Given the description of an element on the screen output the (x, y) to click on. 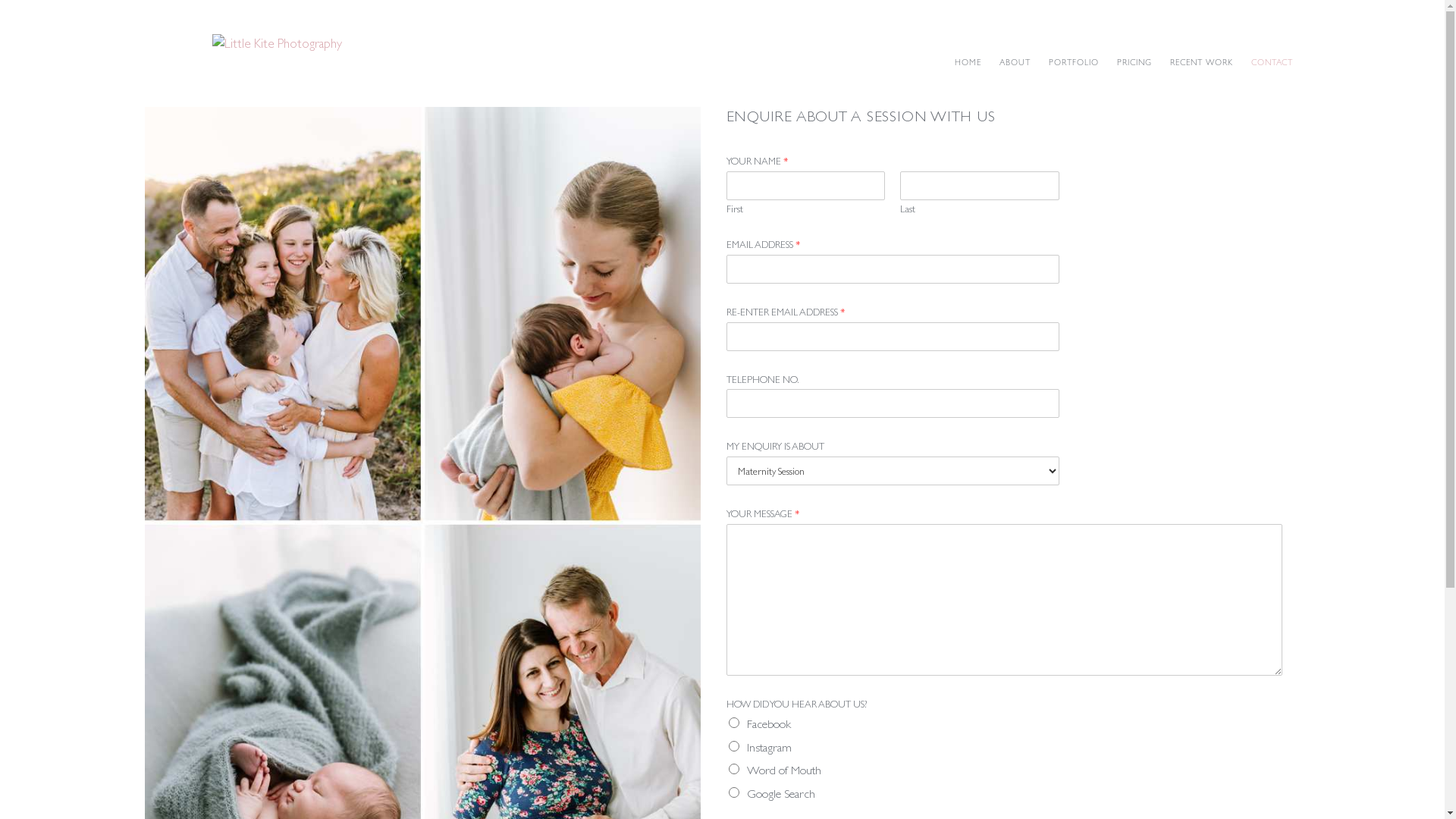
RECENT WORK Element type: text (1201, 63)
PORTFOLIO Element type: text (1073, 63)
ABOUT Element type: text (1014, 63)
CONTACT Element type: text (1271, 63)
PRICING Element type: text (1134, 63)
Skip to main content Element type: text (0, 0)
HOME Element type: text (967, 63)
